Given the description of an element on the screen output the (x, y) to click on. 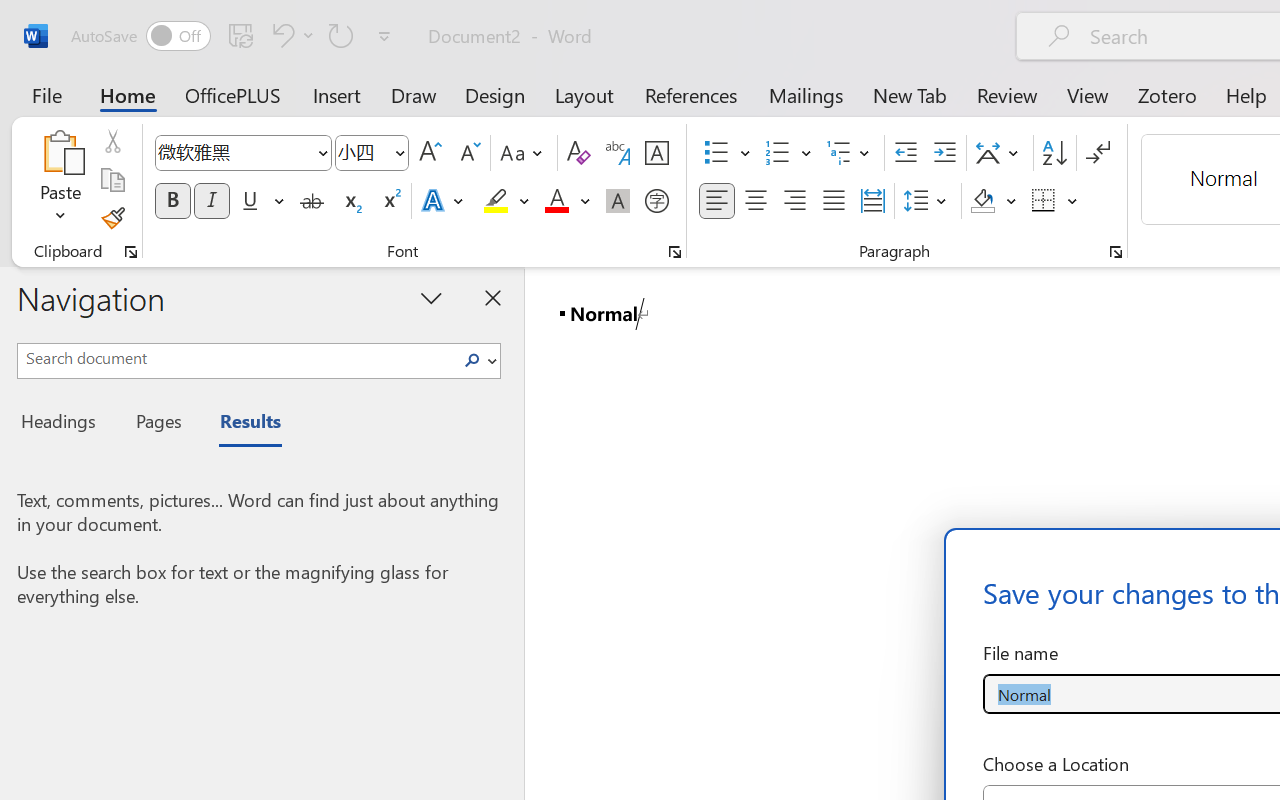
Underline (261, 201)
Design (495, 94)
Shading RGB(0, 0, 0) (982, 201)
Office Clipboard... (131, 252)
Align Right (794, 201)
Open (399, 152)
Draw (413, 94)
Center (756, 201)
Save (241, 35)
Shading (993, 201)
Show/Hide Editing Marks (1098, 153)
Text Highlight Color (506, 201)
Asian Layout (1000, 153)
Font... (675, 252)
